Given the description of an element on the screen output the (x, y) to click on. 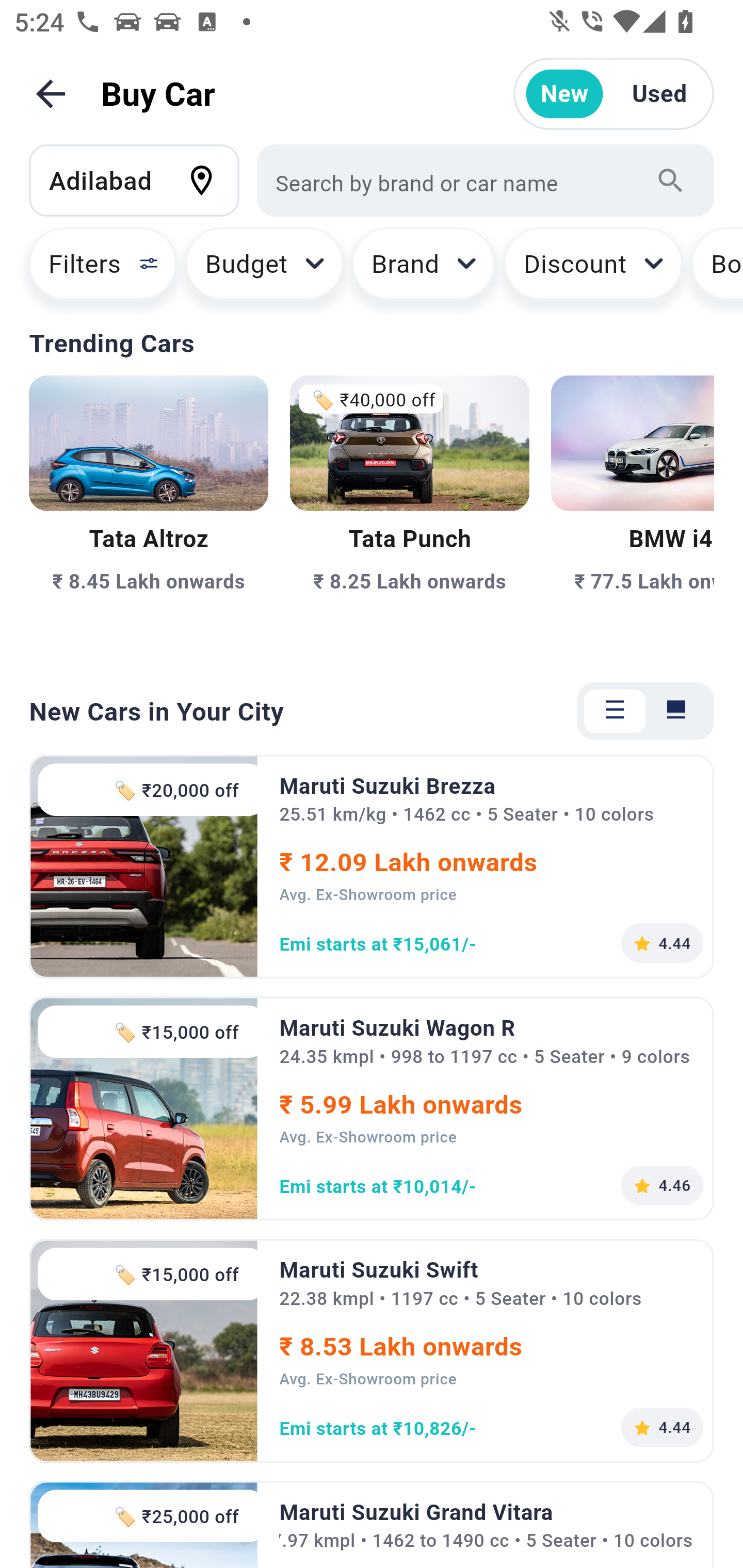
Back (50, 93)
New (564, 93)
Used (659, 93)
Adilabad (142, 180)
Filters (93, 270)
Budget (264, 270)
Brand (423, 270)
Discount (592, 270)
₹ 8.45 Lakh onwards Tata Altroz (148, 515)
🏷️ ₹40,000 off
₹ 8.25 Lakh onwards Tata Punch (409, 515)
₹ 77.5 Lakh onwards BMW i4 (632, 515)
Tab 1 of 2 (614, 710)
Tab 2 of 2 (675, 710)
